Given the description of an element on the screen output the (x, y) to click on. 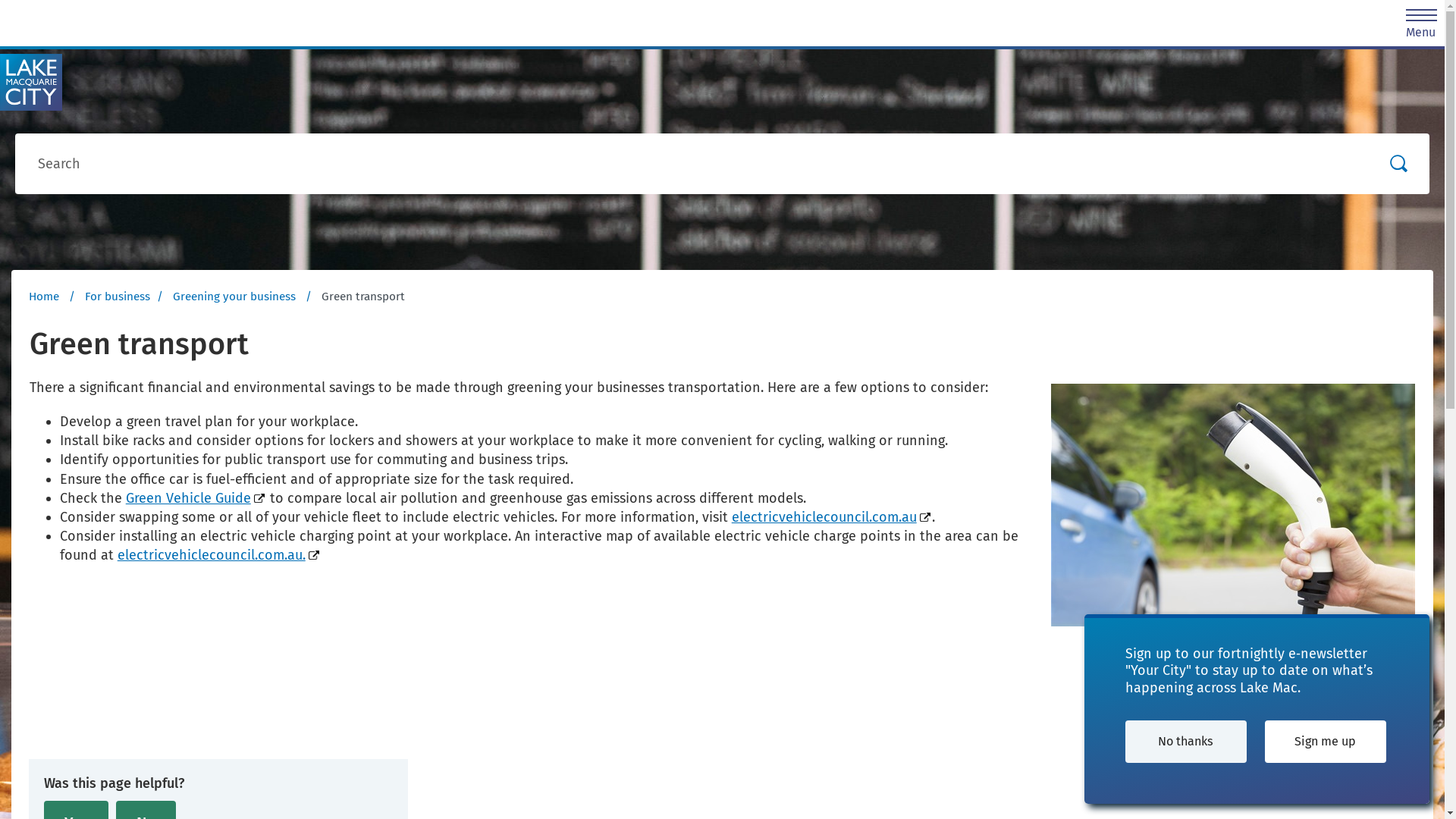
electricvehiclecouncil.com.au Element type: text (831, 516)
Greening your business Element type: text (235, 296)
Menu Element type: text (1420, 17)
Green Vehicle Guide Element type: text (195, 497)
Home - Lake Macquarie City Council - Logo Element type: text (31, 81)
Home Element type: text (43, 296)
Search Element type: text (1398, 163)
electricvehiclecouncil.com.au. Element type: text (218, 554)
For business Element type: text (117, 296)
